Given the description of an element on the screen output the (x, y) to click on. 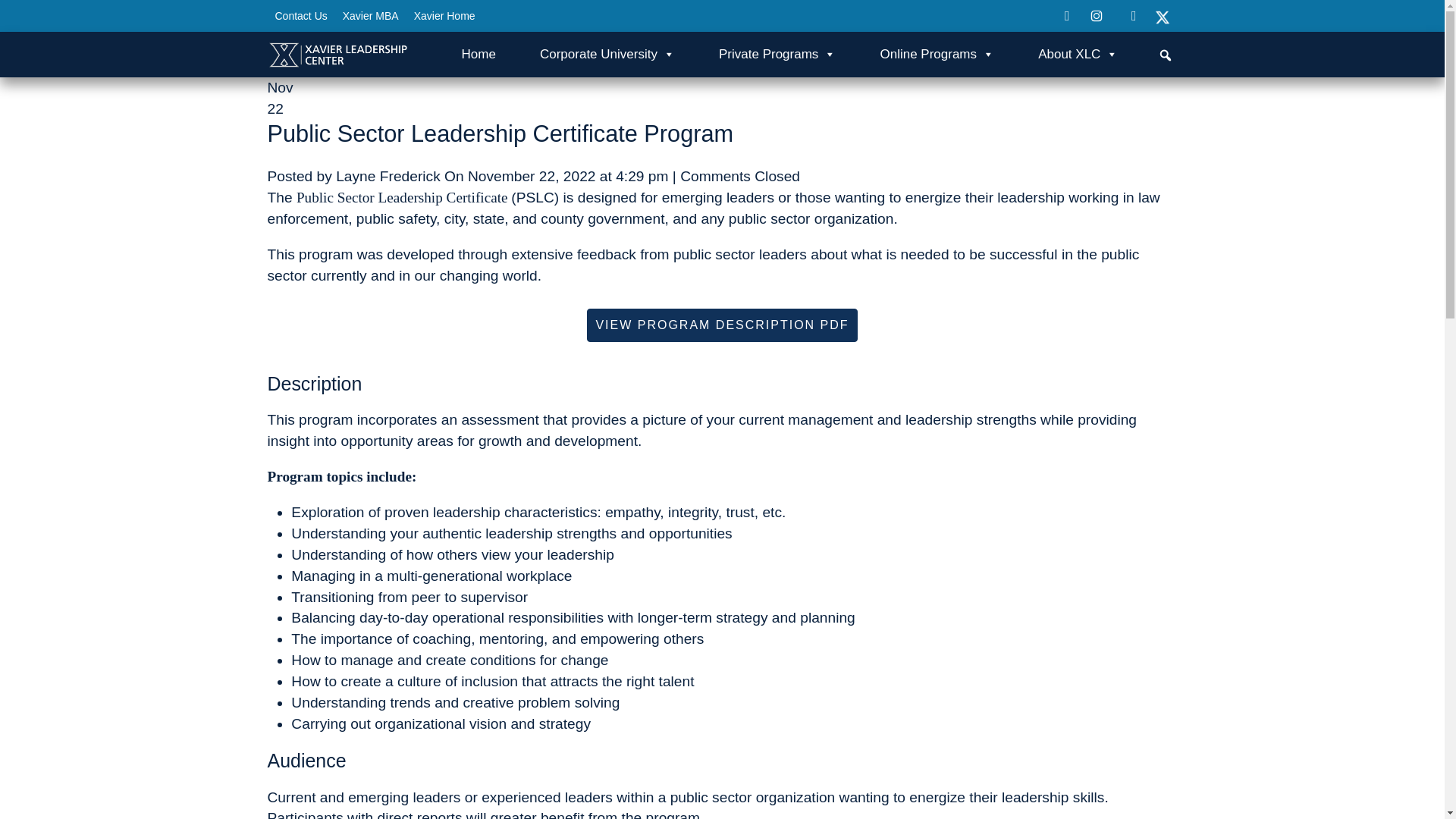
Contact Us (300, 15)
Online Programs (936, 54)
Private Programs (777, 54)
Xavier MBA (370, 15)
Home (477, 54)
Search (11, 7)
About XLC (1077, 54)
Xavier Home (444, 15)
Corporate University (607, 54)
